Given the description of an element on the screen output the (x, y) to click on. 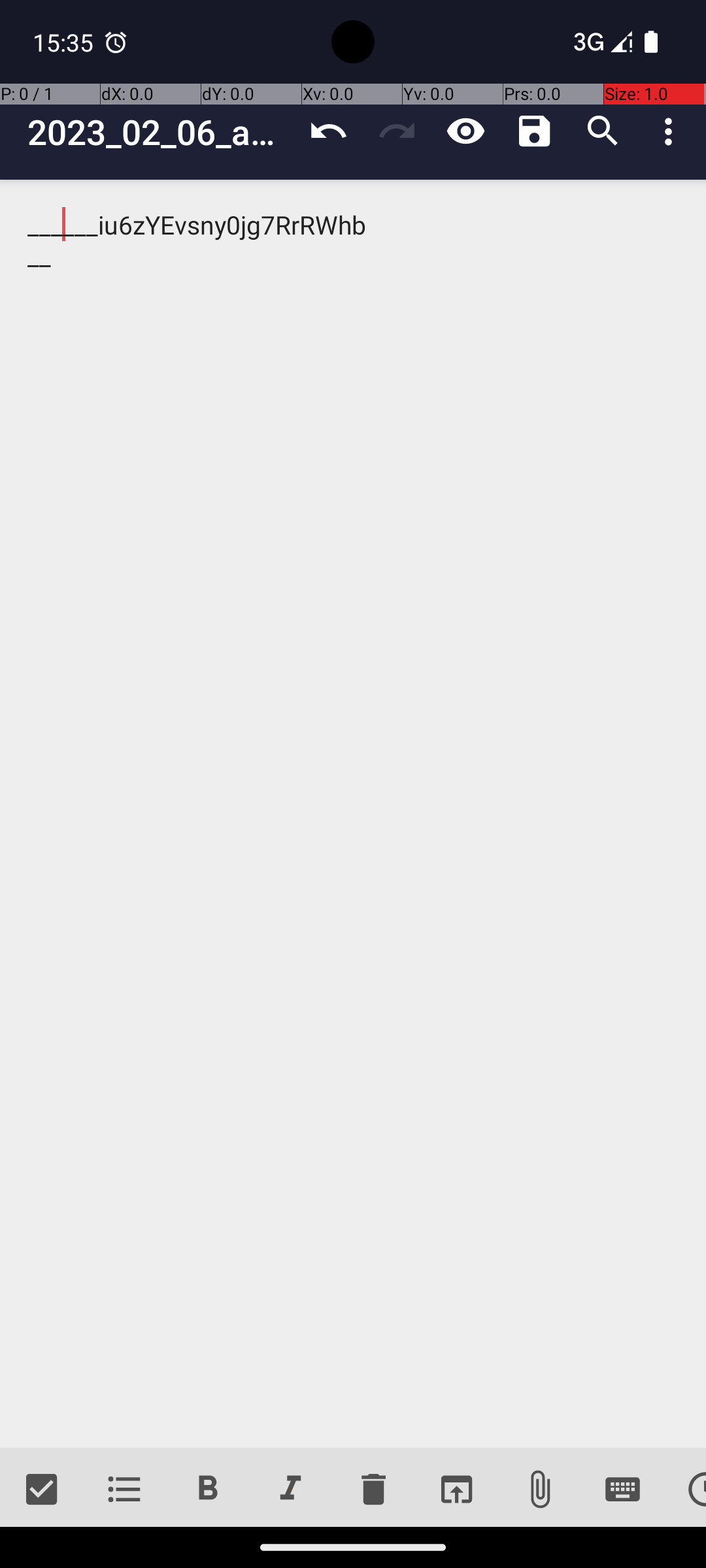
2023_02_06_april_workout_routine Element type: android.widget.TextView (160, 131)
______iu6zYEvsny0jg7RrRWhb
__ Element type: android.widget.EditText (353, 813)
